Given the description of an element on the screen output the (x, y) to click on. 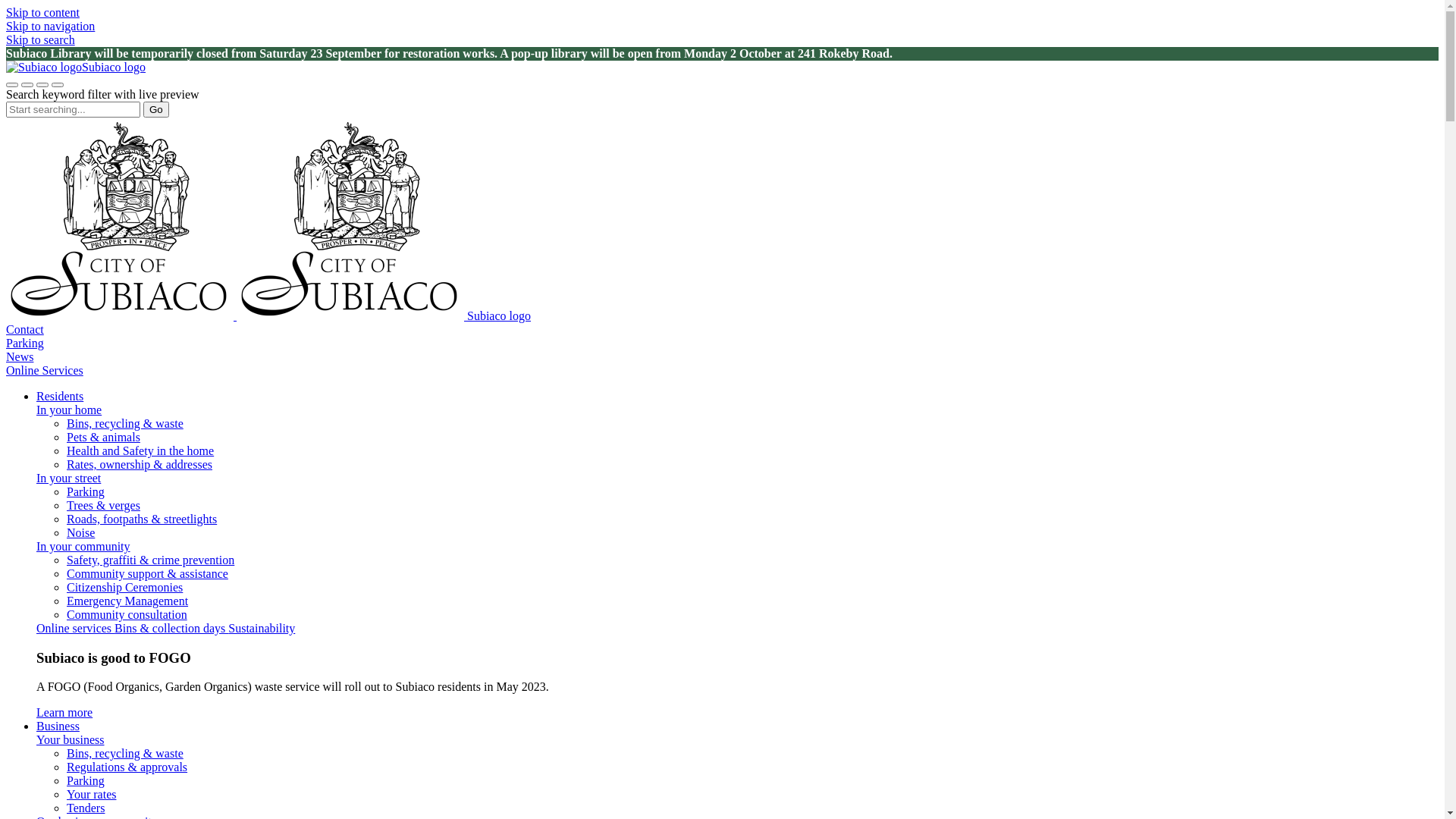
Skip to navigation Element type: text (50, 25)
Your business Element type: text (70, 739)
Parking Element type: text (85, 780)
Subiaco logo Element type: text (722, 220)
Tenders Element type: text (85, 807)
Rates, ownership & addresses Element type: text (139, 464)
Bins, recycling & waste Element type: text (124, 423)
Subiaco logo Element type: text (75, 66)
Skip to content Element type: text (42, 12)
Roads, footpaths & streetlights Element type: text (141, 518)
Online services Element type: text (75, 627)
In your street Element type: text (68, 477)
Go Element type: text (156, 109)
Parking Element type: text (85, 491)
Business Element type: text (737, 726)
Community consultation Element type: text (126, 614)
Trees & verges Element type: text (103, 504)
Contact Element type: text (24, 329)
Community support & assistance Element type: text (147, 573)
Your rates Element type: text (91, 793)
Bins, recycling & waste Element type: text (124, 752)
In your community Element type: text (83, 545)
Residents Element type: text (737, 396)
Regulations & approvals Element type: text (126, 766)
Health and Safety in the home Element type: text (139, 450)
Sustainability Element type: text (261, 627)
Emergency Management Element type: text (127, 600)
Noise Element type: text (80, 532)
Parking Element type: text (24, 342)
Pets & animals Element type: text (103, 436)
Safety, graffiti & crime prevention Element type: text (150, 559)
Bins & collection days Element type: text (171, 627)
Skip to search Element type: text (40, 39)
Online Services Element type: text (44, 370)
Learn more Element type: text (64, 712)
Citizenship Ceremonies Element type: text (124, 586)
News Element type: text (19, 356)
In your home Element type: text (68, 409)
